Given the description of an element on the screen output the (x, y) to click on. 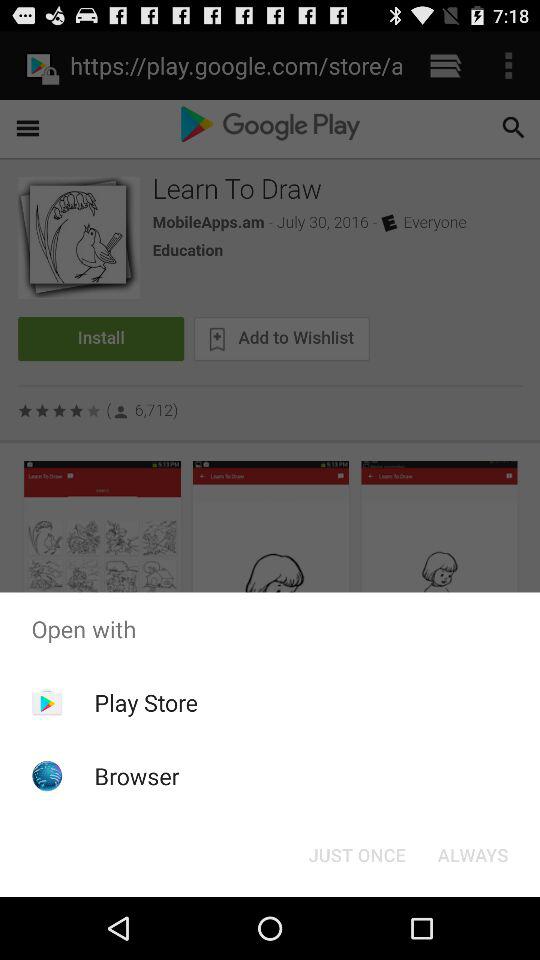
scroll until just once item (356, 854)
